Given the description of an element on the screen output the (x, y) to click on. 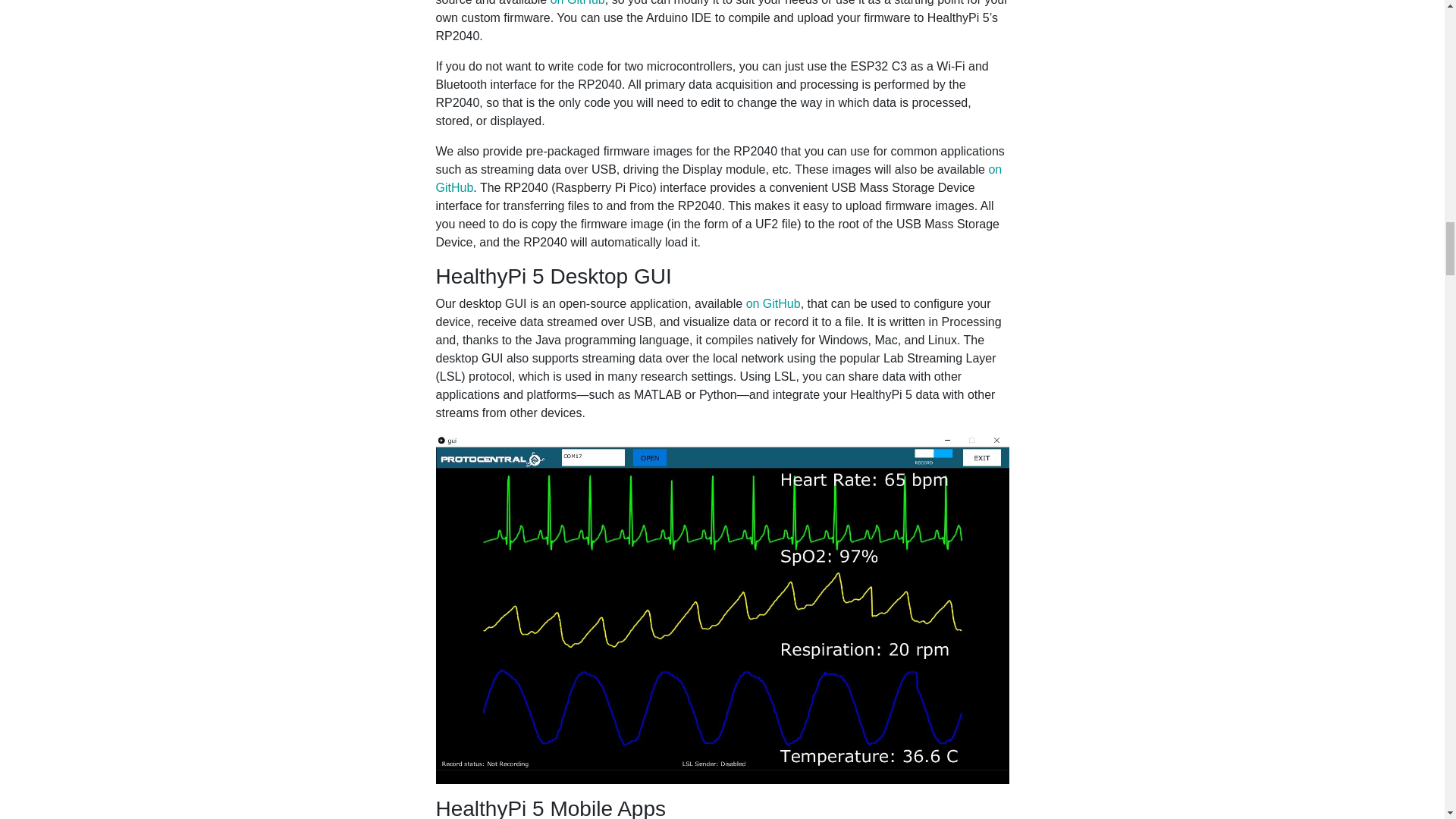
on GitHub (718, 178)
on GitHub (577, 2)
on GitHub (772, 303)
